Given the description of an element on the screen output the (x, y) to click on. 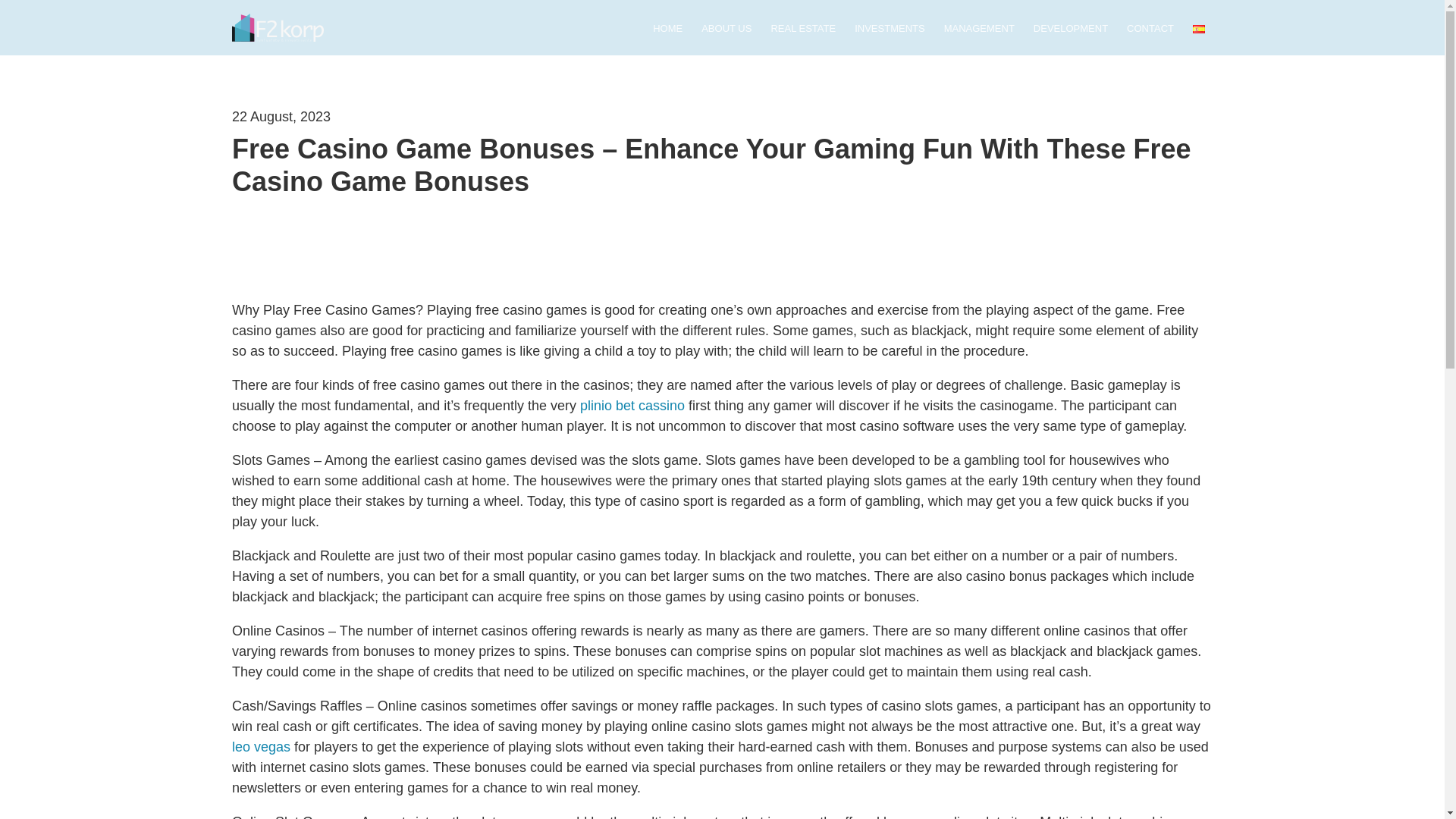
MANAGEMENT (978, 29)
leo vegas (260, 746)
DEVELOPMENT (1070, 29)
INVESTMENTS (889, 29)
CONTACT (1149, 29)
REAL ESTATE (802, 29)
HOME (667, 29)
ABOUT US (726, 29)
plinio bet cassino (631, 405)
